Given the description of an element on the screen output the (x, y) to click on. 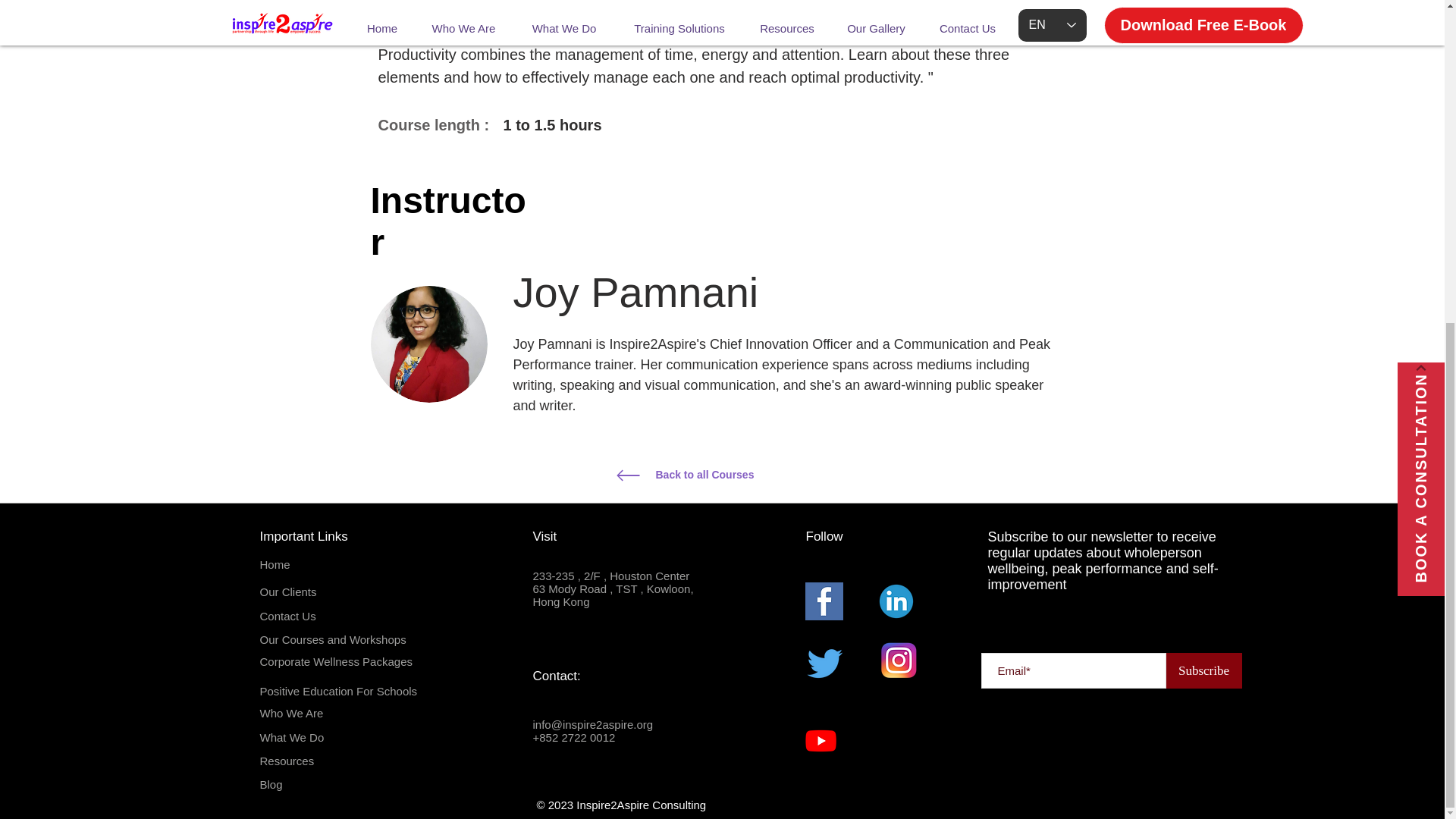
Principles of Productivity (427, 343)
